Given the description of an element on the screen output the (x, y) to click on. 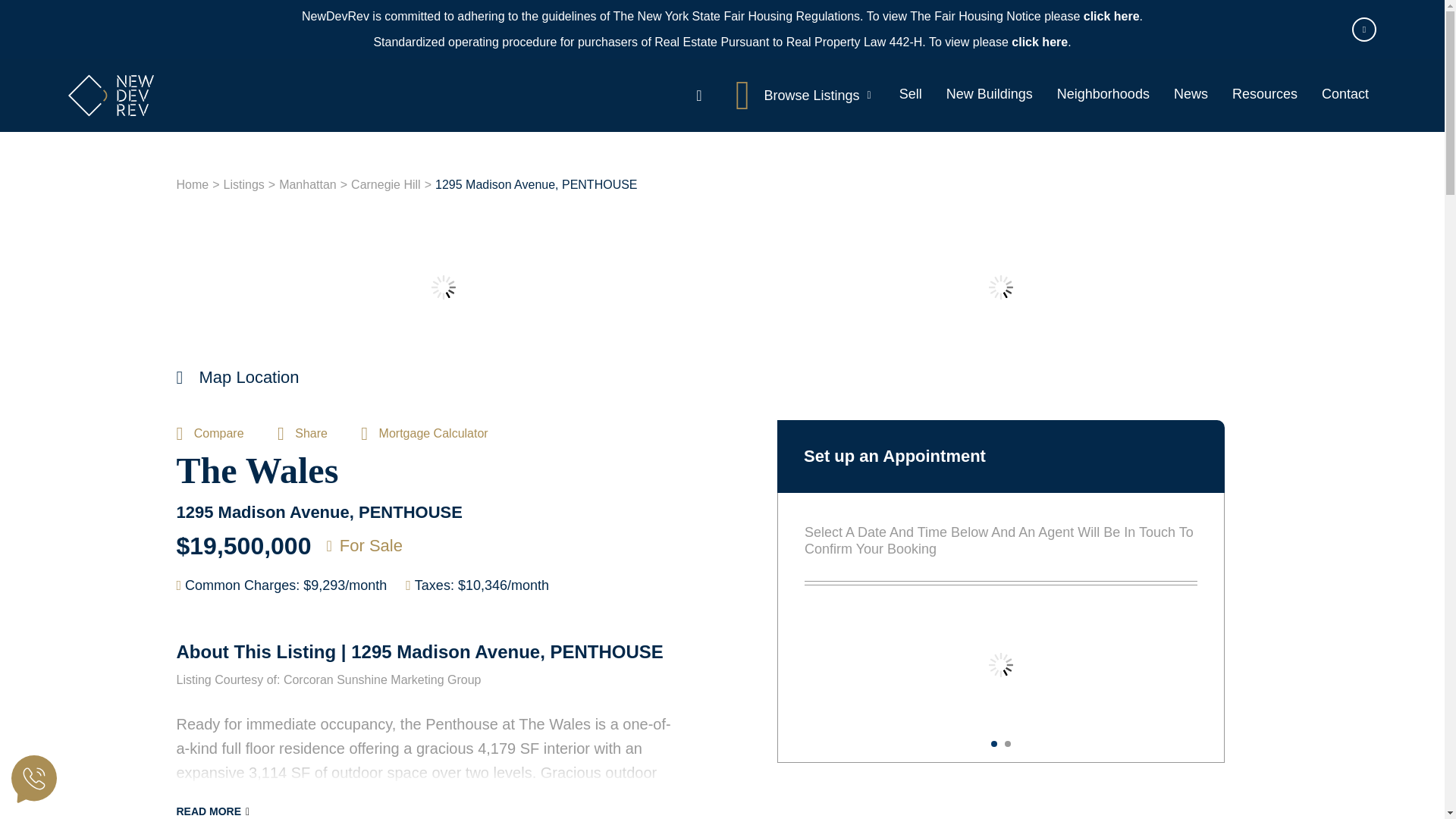
Resources (1264, 94)
New Buildings (990, 94)
News (1190, 94)
click here (1111, 15)
Browse Listings (808, 95)
Home (192, 184)
click here (1039, 42)
Manhattan (307, 184)
Sell (910, 94)
Neighborhoods (1103, 94)
Mortgage Calculator (424, 432)
Share (304, 432)
Carnegie Hill (385, 184)
Map Location (237, 377)
Contact (1344, 94)
